Given the description of an element on the screen output the (x, y) to click on. 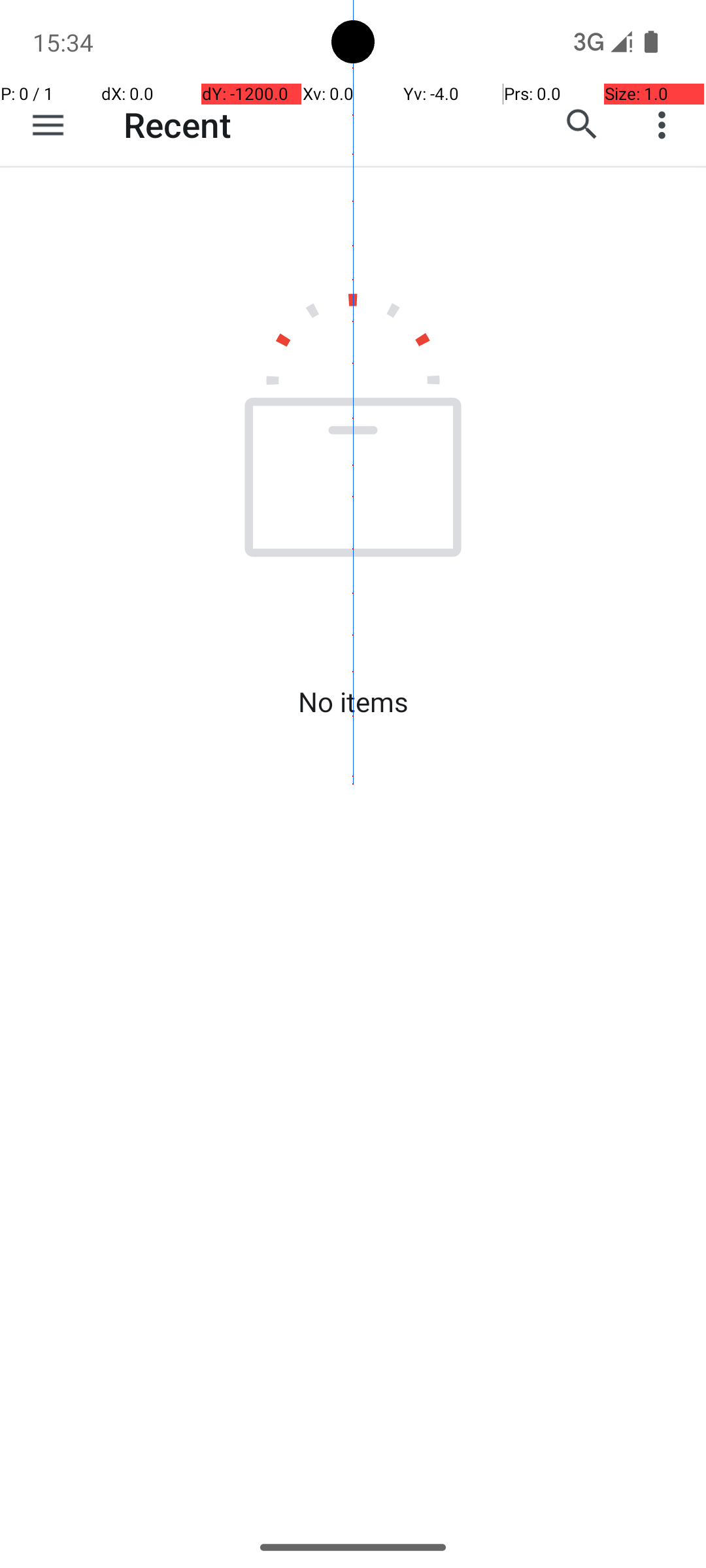
Recent files Element type: android.widget.TextView (311, 125)
